Given the description of an element on the screen output the (x, y) to click on. 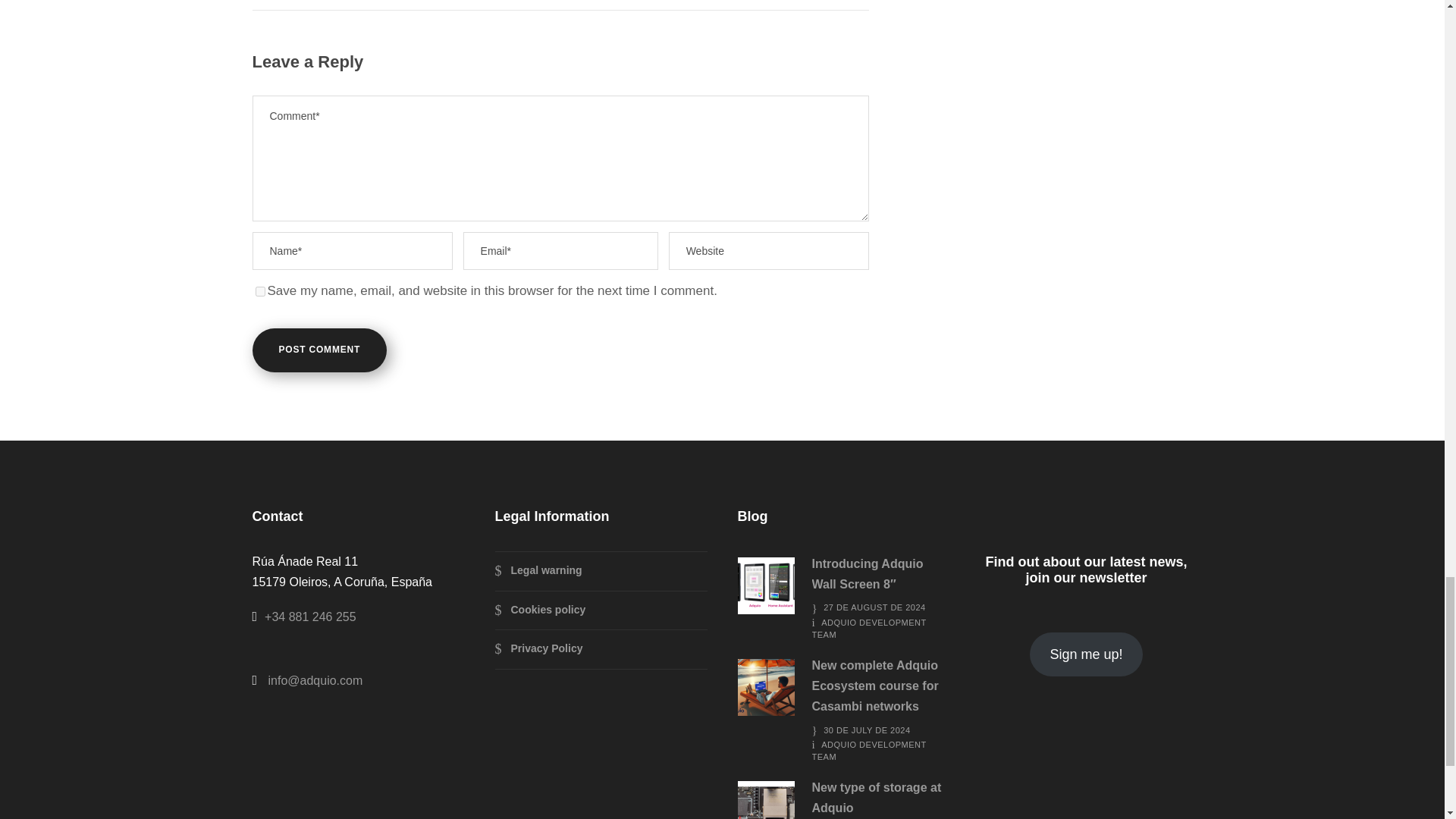
Posts by Adquio Development Team (868, 628)
yes (259, 291)
Post Comment (319, 350)
Adquio Casambi training on the beach (764, 687)
